Given the description of an element on the screen output the (x, y) to click on. 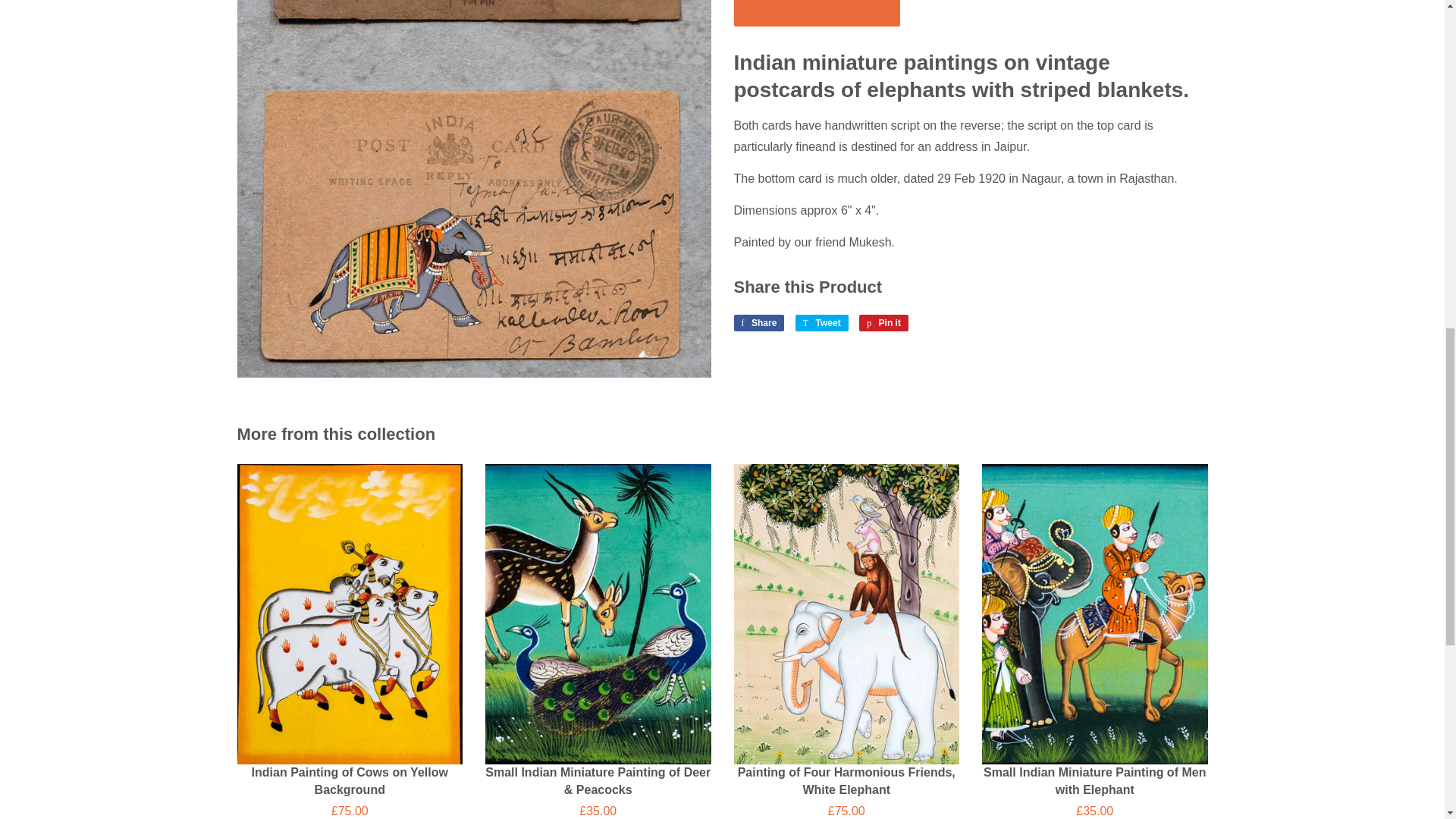
Tweet on Twitter (758, 322)
Pin on Pinterest (817, 13)
Share on Facebook (821, 322)
